Given the description of an element on the screen output the (x, y) to click on. 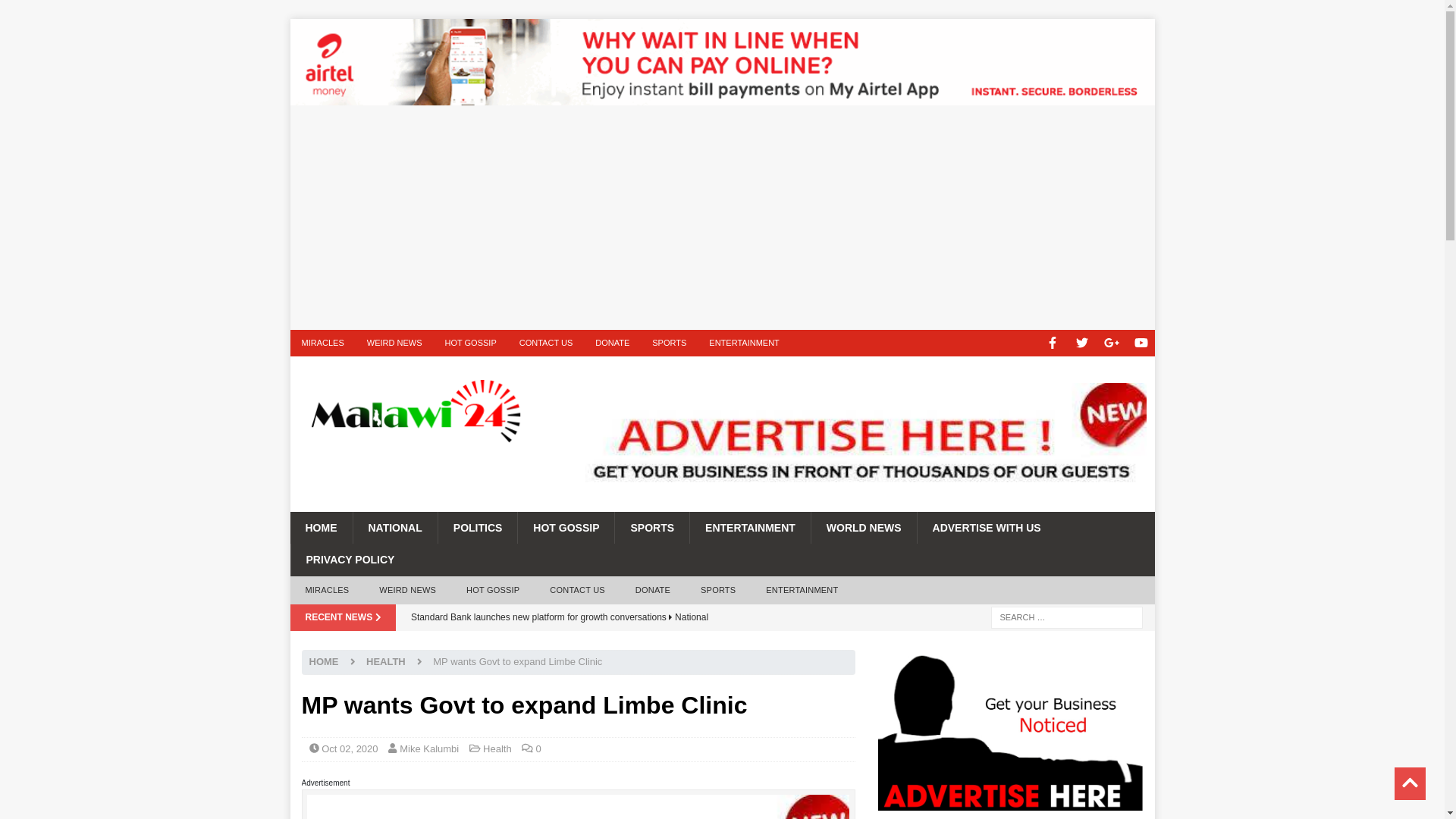
World News (863, 527)
HOT GOSSIP (469, 343)
Home (320, 527)
WORLD NEWS (863, 527)
WEIRD NEWS (407, 590)
SPORTS (668, 343)
POLITICS (478, 527)
Hot Gossip (565, 527)
Privacy Policy (349, 559)
Entertainment (749, 527)
Posts by Mike Kalumbi (428, 748)
Politics (478, 527)
Sports (651, 527)
ENTERTAINMENT (749, 527)
SPORTS (651, 527)
